Given the description of an element on the screen output the (x, y) to click on. 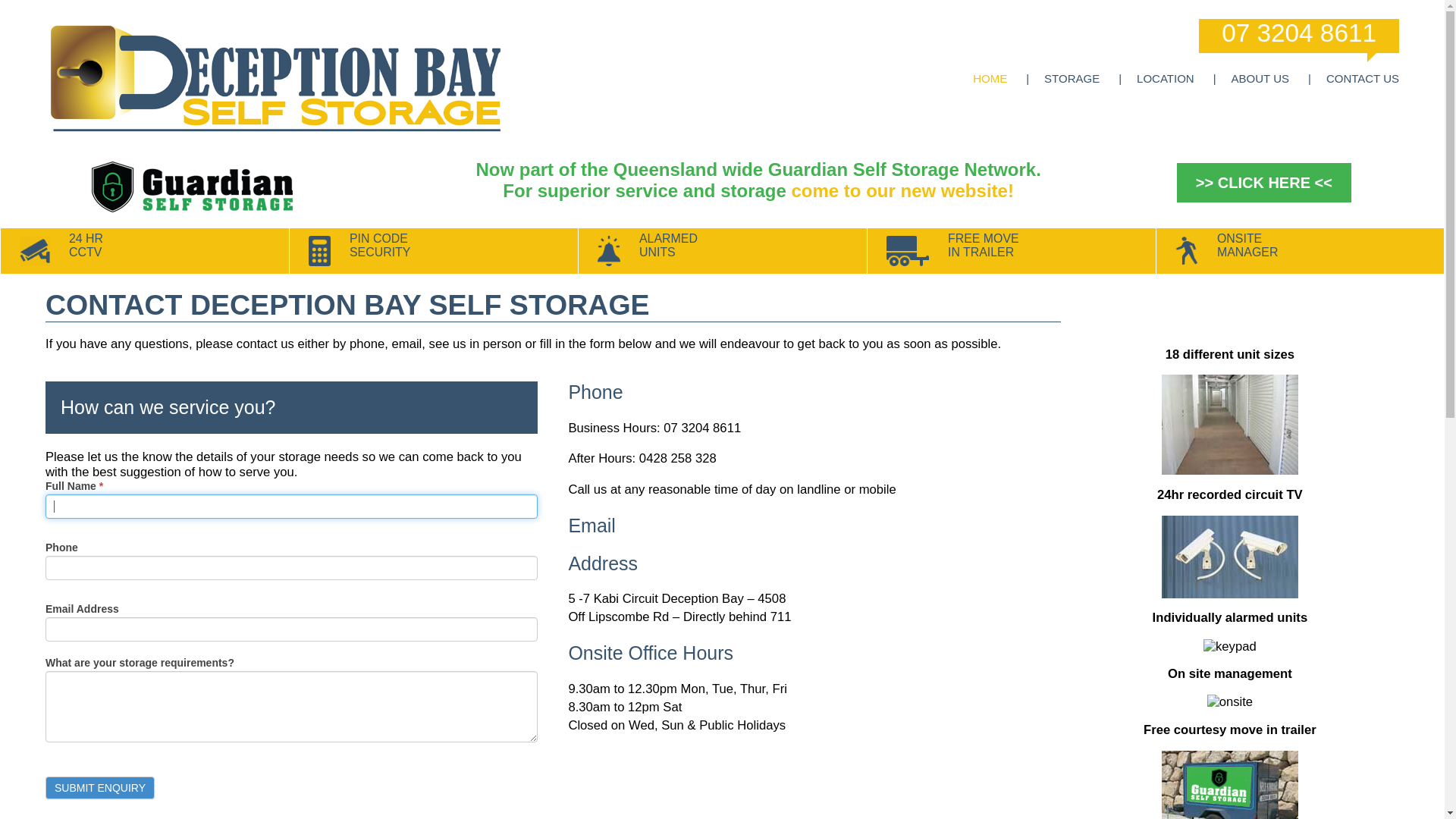
STORAGE Element type: text (1082, 78)
>> CLICK HERE << Element type: text (1263, 182)
ABOUT US Element type: text (1270, 78)
come to our new website! Element type: text (902, 190)
CONTACT US Element type: text (1358, 78)
HOME Element type: text (1000, 78)
Submit enquiry Element type: text (99, 787)
LOCATION Element type: text (1176, 78)
